Given the description of an element on the screen output the (x, y) to click on. 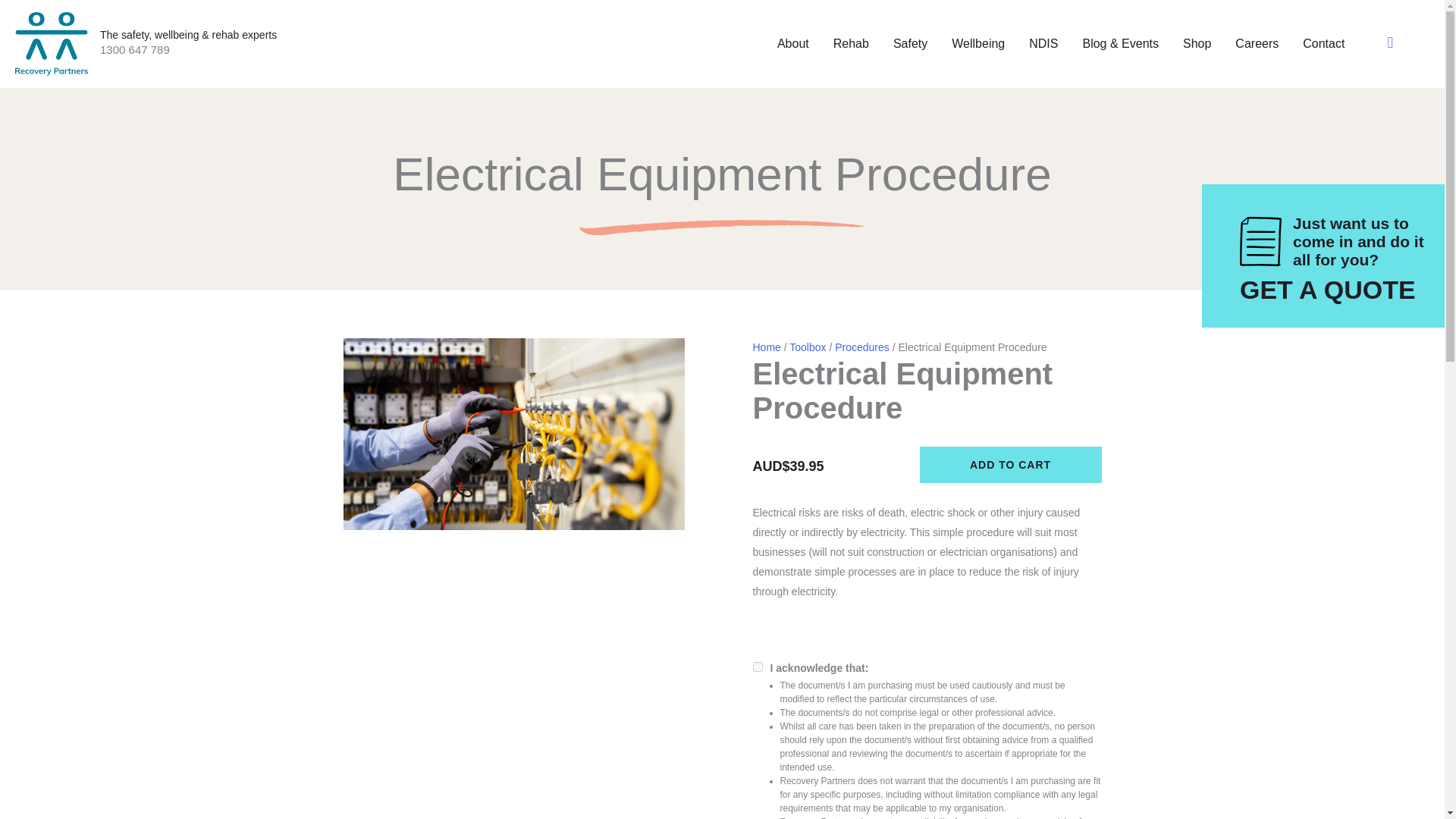
on (756, 666)
About (793, 43)
Rehab (850, 43)
